Given the description of an element on the screen output the (x, y) to click on. 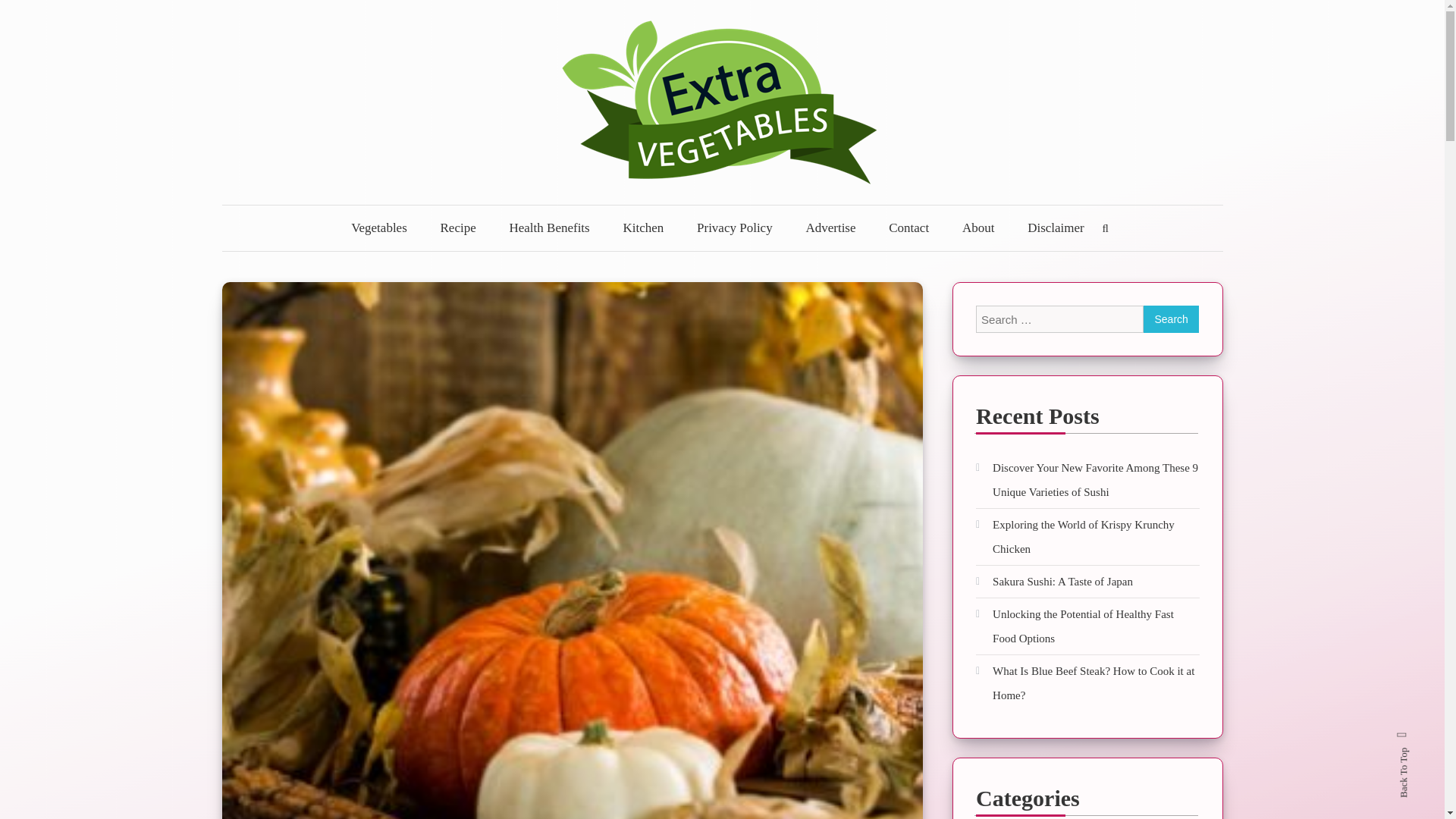
Sakura Sushi: A Taste of Japan (1053, 581)
Disclaimer (1055, 227)
Health Benefits (548, 227)
What Is Blue Beef Steak? How to Cook it at Home? (1086, 683)
Advertise (830, 227)
Recipe (458, 227)
Contact (908, 227)
Search (1170, 318)
Search (1170, 318)
